Given the description of an element on the screen output the (x, y) to click on. 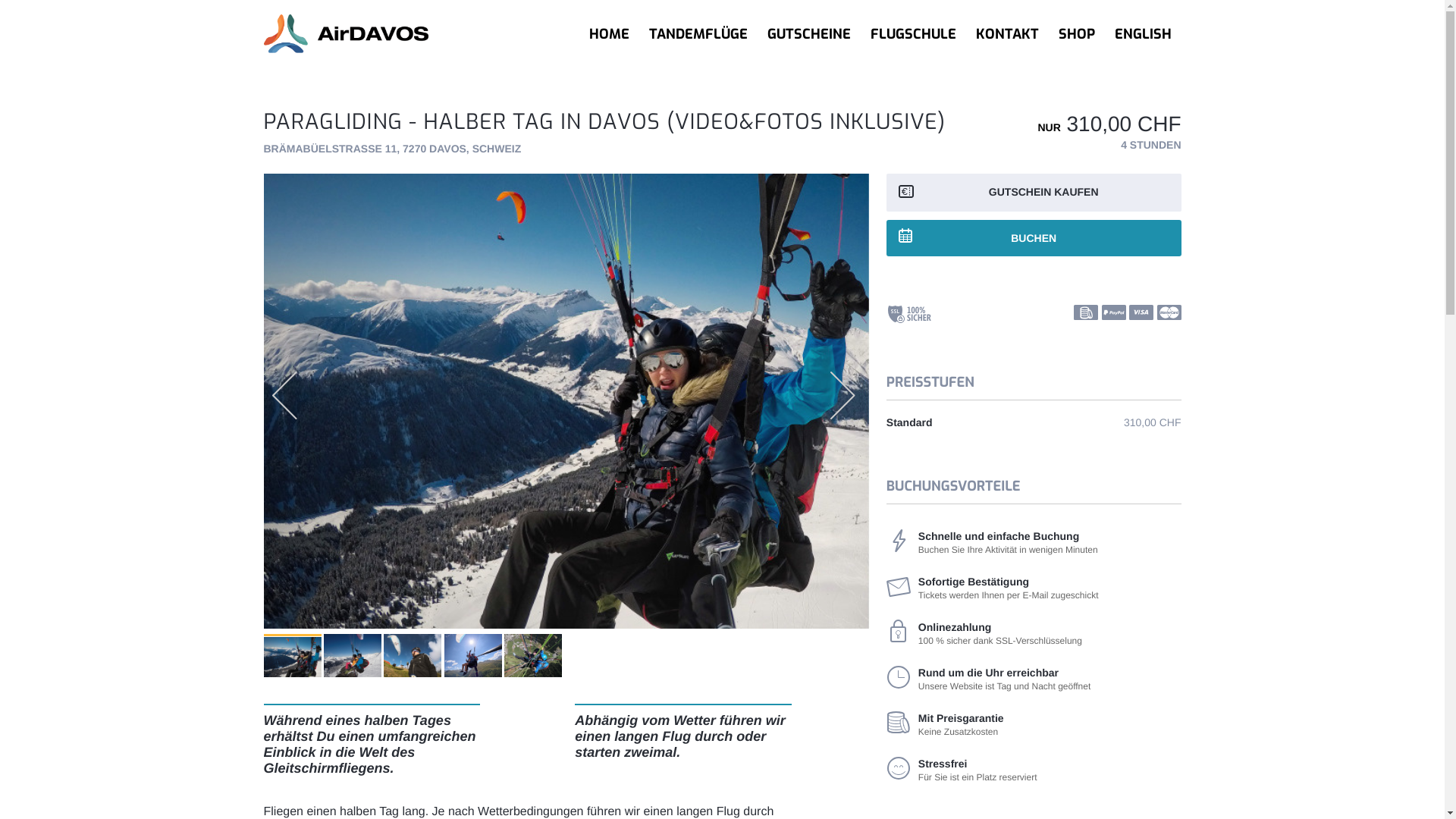
GUTSCHEINE Element type: text (807, 34)
ENGLISH Element type: text (1142, 34)
BUCHEN Element type: text (1033, 237)
KONTAKT Element type: text (1007, 34)
GUTSCHEIN KAUFEN Element type: text (1033, 192)
HOME Element type: text (609, 34)
AirDavosParagliding-Logo Element type: hover (345, 34)
AirDavosParagliding-Logo Element type: hover (392, 34)
SHOP Element type: text (1076, 34)
FLUGSCHULE Element type: text (912, 34)
